Given the description of an element on the screen output the (x, y) to click on. 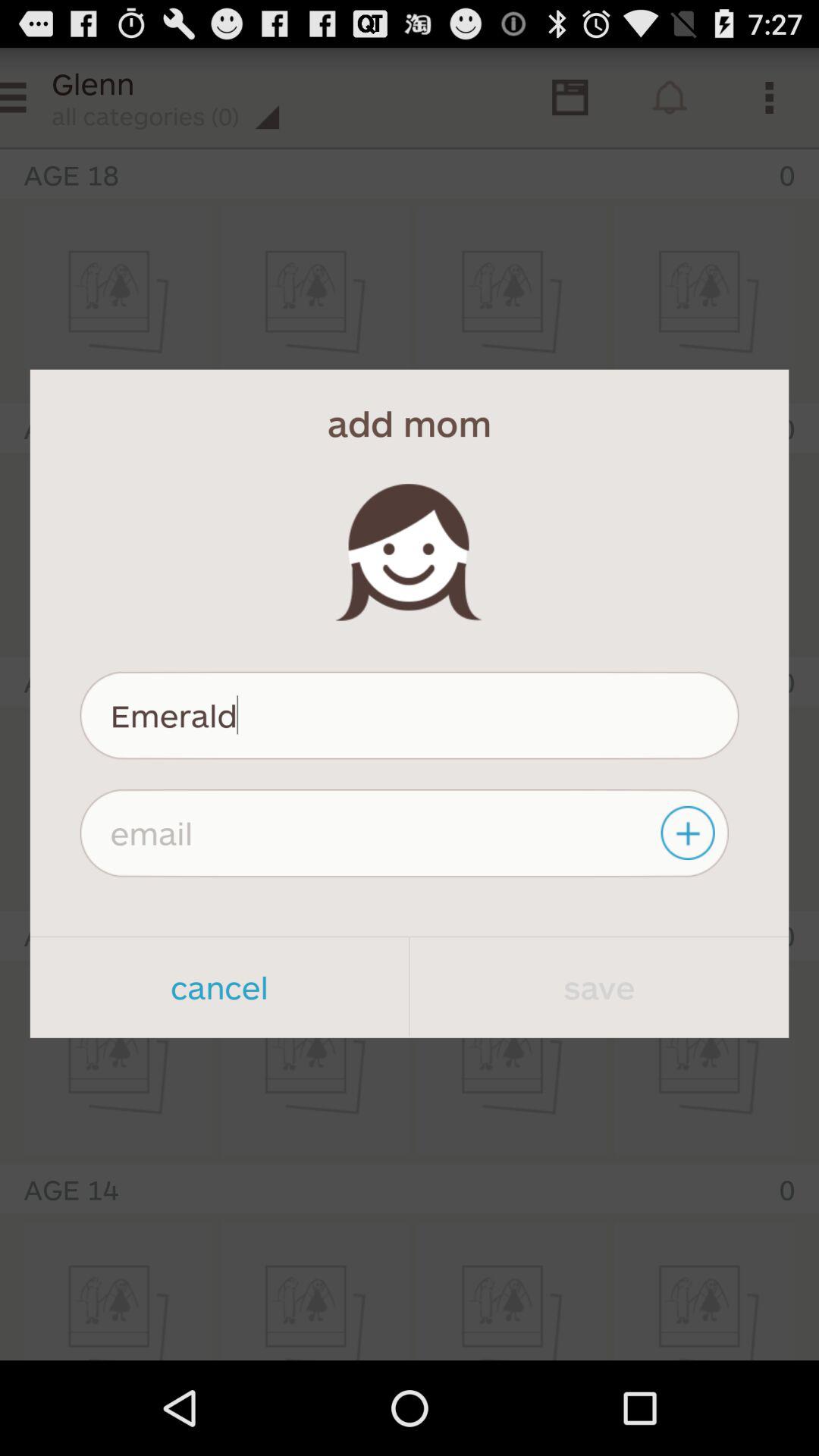
press emerald icon (409, 715)
